Given the description of an element on the screen output the (x, y) to click on. 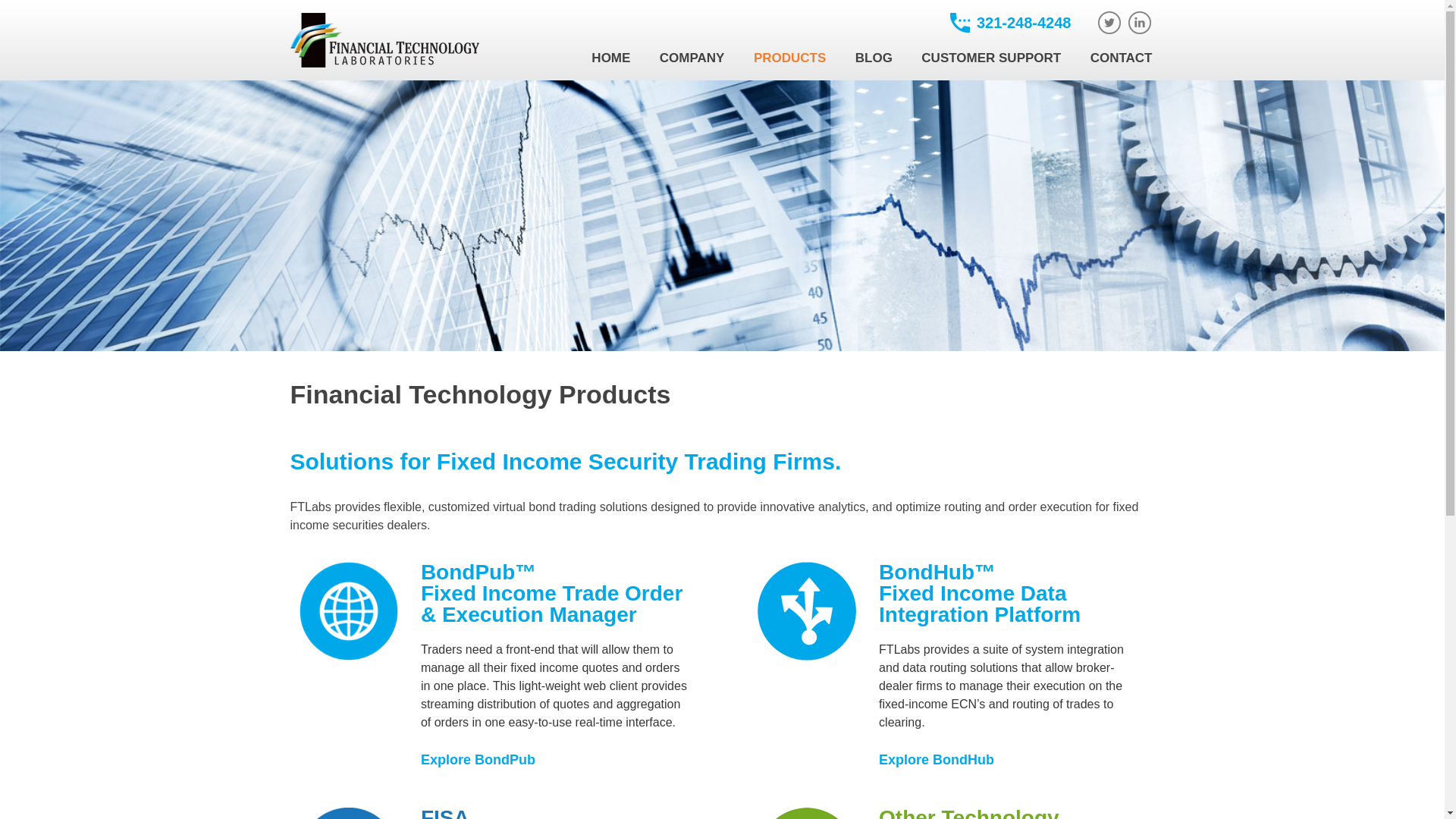
Explore BondHub (941, 759)
CONTACT (1121, 57)
HOME (610, 57)
321-248-4248 (1010, 22)
BLOG (873, 57)
CUSTOMER SUPPORT (990, 57)
COMPANY (692, 57)
PRODUCTS (789, 57)
Explore BondPub (483, 759)
FTLabs (384, 62)
